Given the description of an element on the screen output the (x, y) to click on. 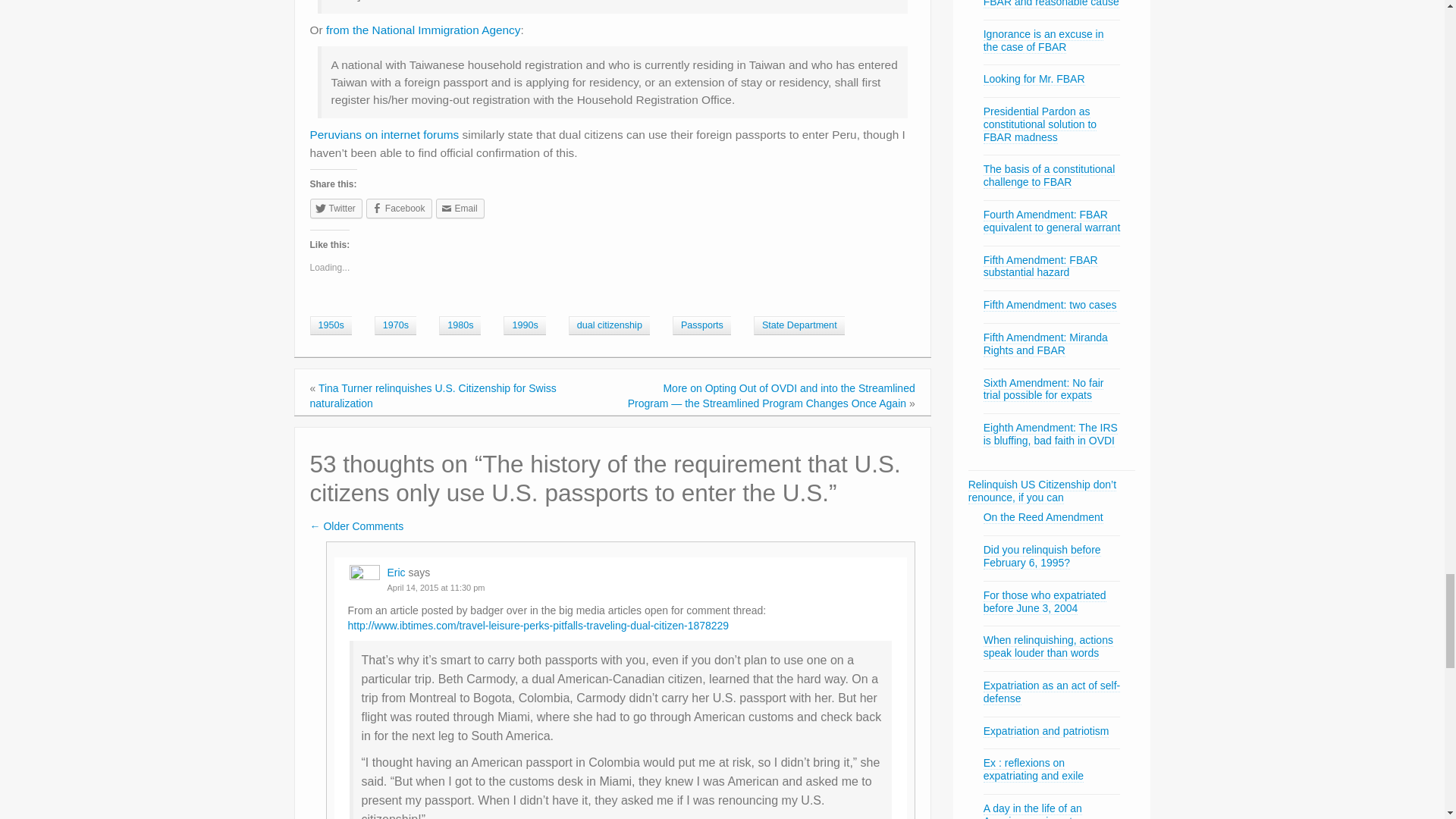
Share on Facebook (399, 208)
Click to share on Twitter (334, 208)
Click to email this to a friend (459, 208)
